Given the description of an element on the screen output the (x, y) to click on. 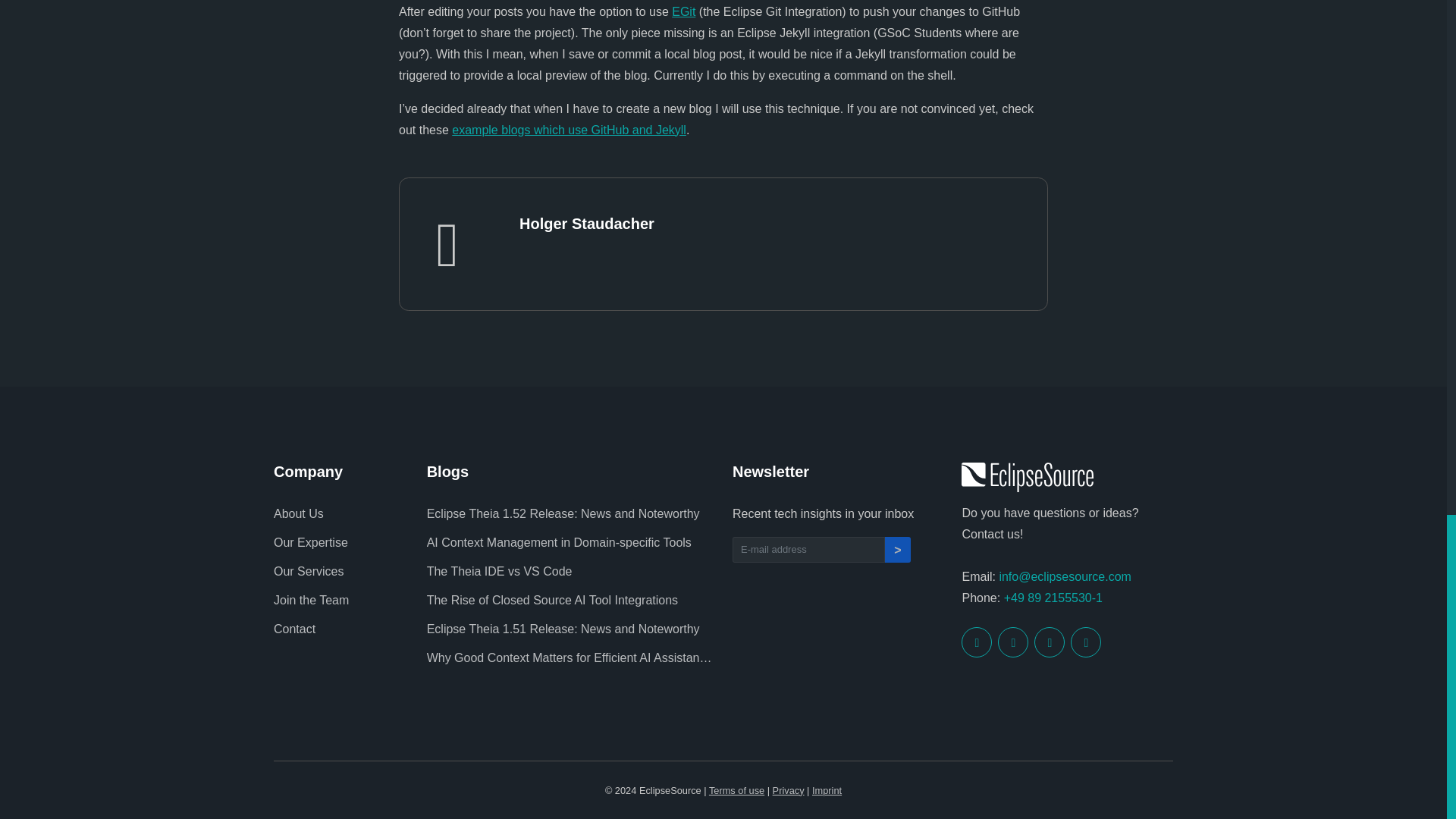
Contact (341, 629)
twitter (975, 642)
linkedin (1085, 642)
Our Expertise (341, 542)
Our Services (341, 571)
Join the Team (341, 600)
About Us (341, 513)
facebook (1012, 642)
github (1048, 642)
